Given the description of an element on the screen output the (x, y) to click on. 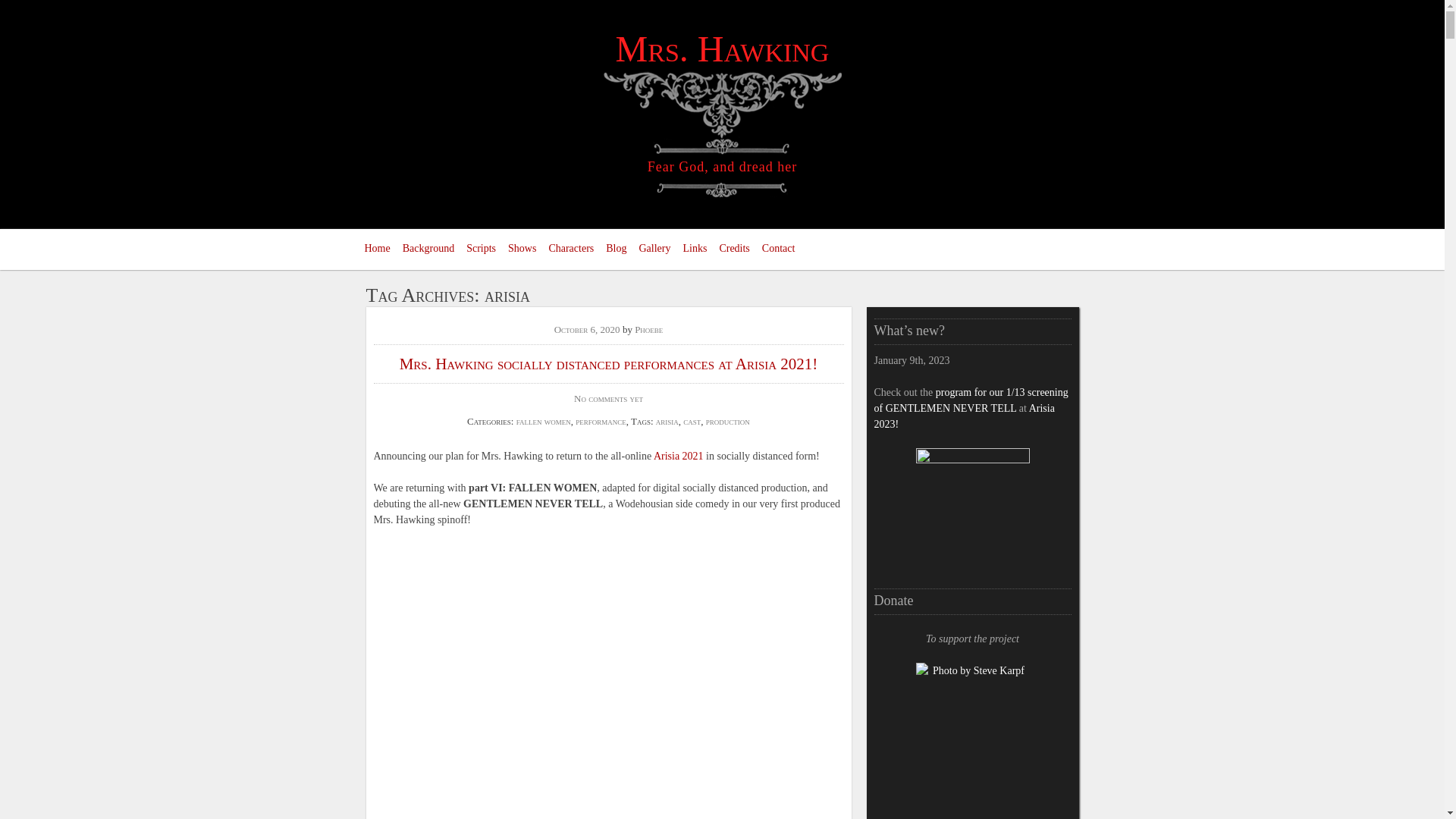
Shows (521, 249)
Gallery (654, 249)
Arisia 2021 (678, 455)
Credits (734, 249)
Contact (778, 249)
Blog (615, 249)
Mrs. Hawking (722, 48)
Home (377, 249)
Mrs. Hawking socially distanced performances at Arisia 2021! (608, 363)
